Given the description of an element on the screen output the (x, y) to click on. 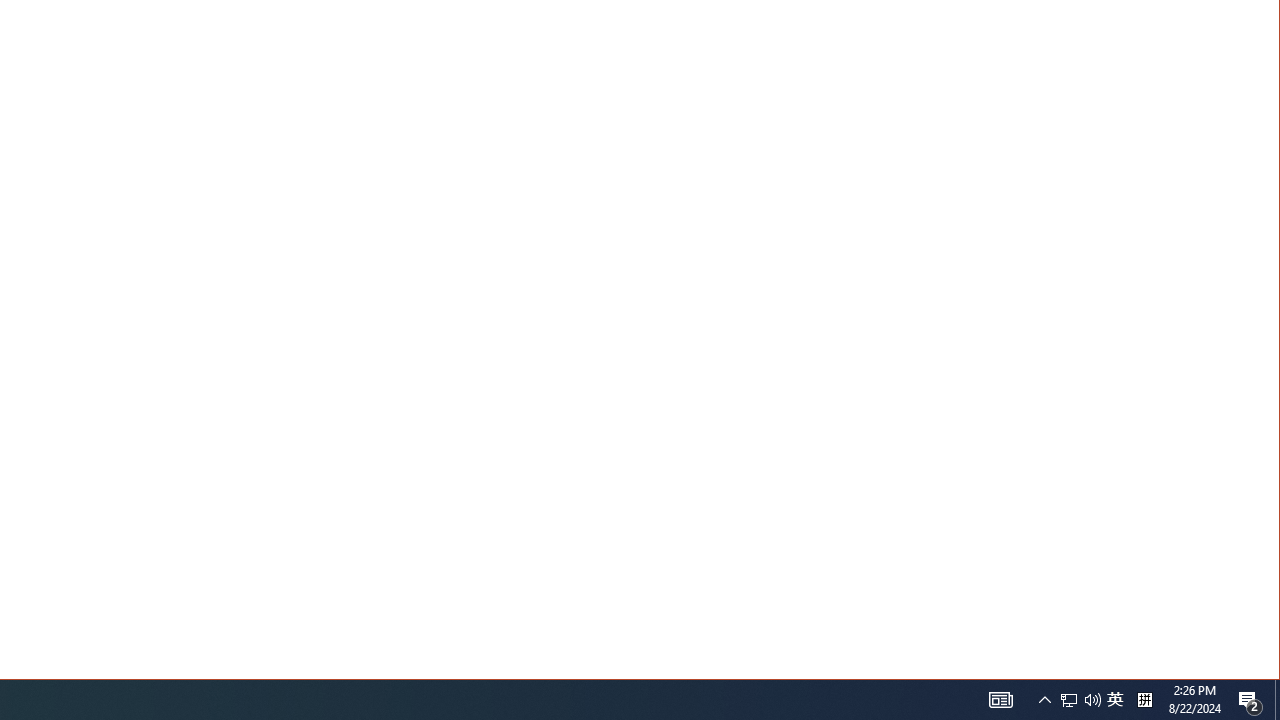
Notification Chevron (1044, 699)
User Promoted Notification Area (1080, 699)
Q2790: 100% (1092, 699)
AutomationID: 4105 (1000, 699)
Show desktop (1277, 699)
Action Center, 2 new notifications (1069, 699)
Tray Input Indicator - Chinese (Simplified, China) (1115, 699)
